Given the description of an element on the screen output the (x, y) to click on. 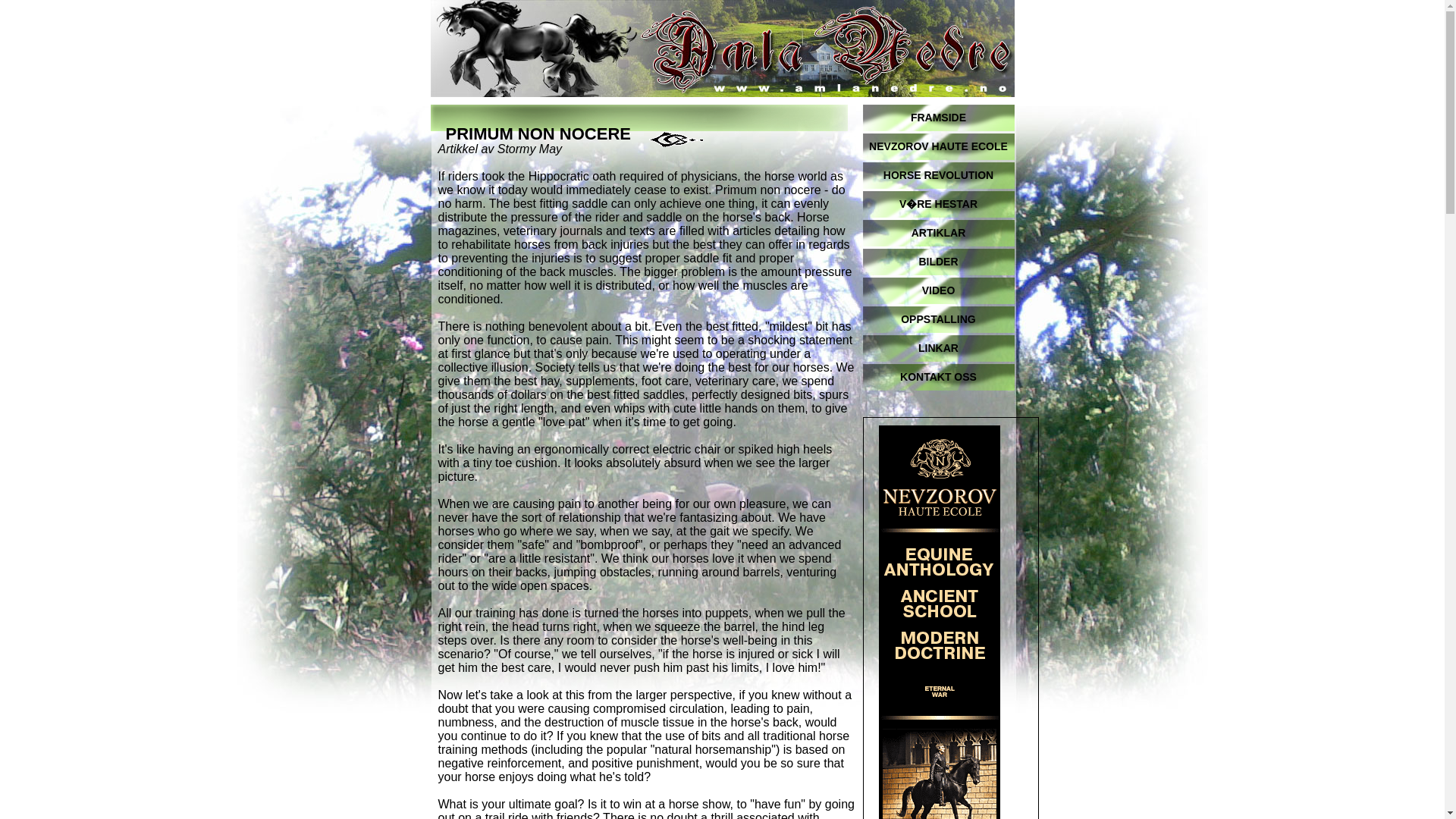
LINKAR (938, 347)
FRAMSIDE (938, 117)
NEVZOROV HAUTE ECOLE (938, 146)
VIDEO (938, 290)
ARTIKLAR (938, 233)
HORSE REVOLUTION (938, 175)
KONTAKT OSS (938, 376)
BILDER (938, 261)
OPPSTALLING (938, 319)
